Given the description of an element on the screen output the (x, y) to click on. 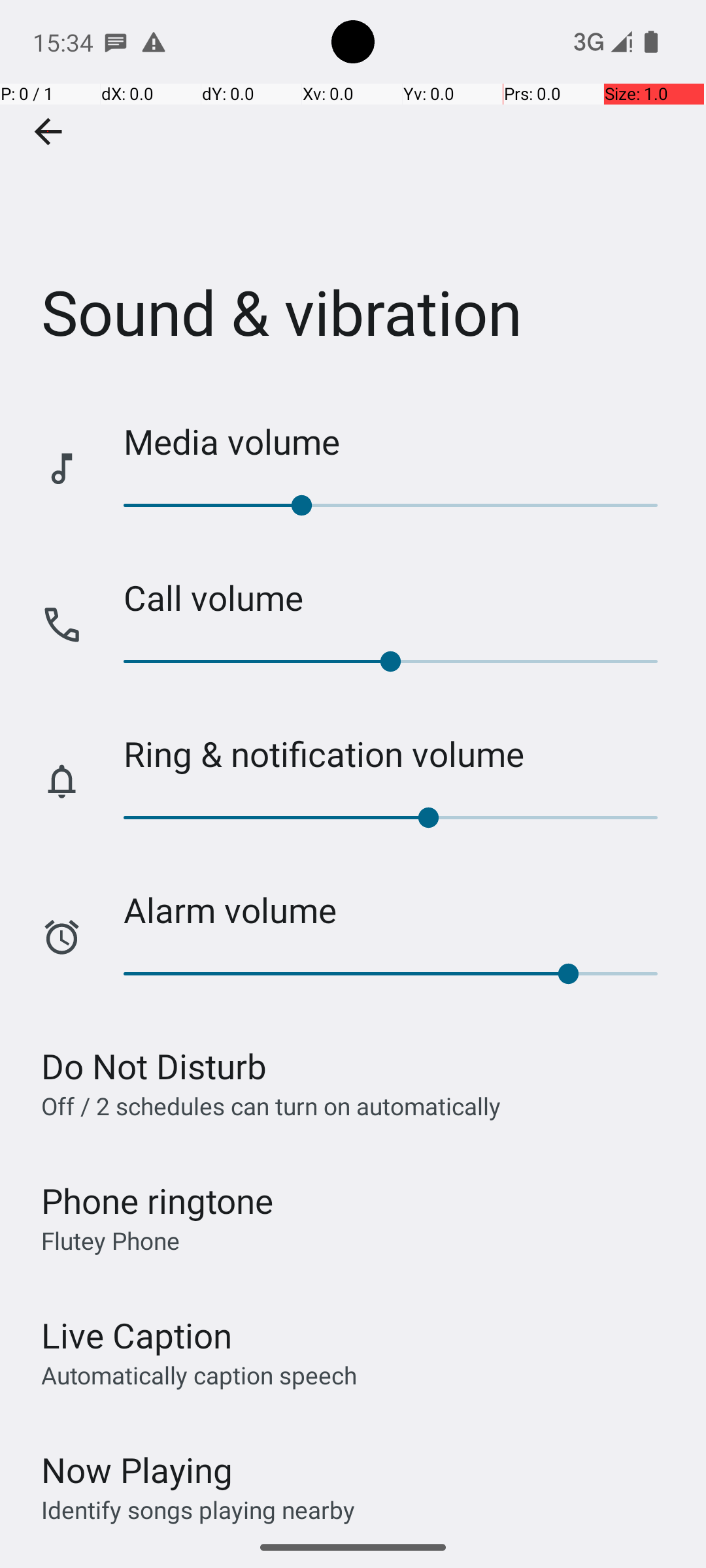
Media volume Element type: android.widget.TextView (400, 441)
Call volume Element type: android.widget.TextView (400, 597)
Ring & notification volume Element type: android.widget.TextView (400, 753)
Alarm volume Element type: android.widget.TextView (400, 909)
Off / 2 schedules can turn on automatically Element type: android.widget.TextView (270, 1105)
Automatically caption speech Element type: android.widget.TextView (199, 1374)
Now Playing Element type: android.widget.TextView (136, 1469)
Identify songs playing nearby Element type: android.widget.TextView (197, 1509)
